Given the description of an element on the screen output the (x, y) to click on. 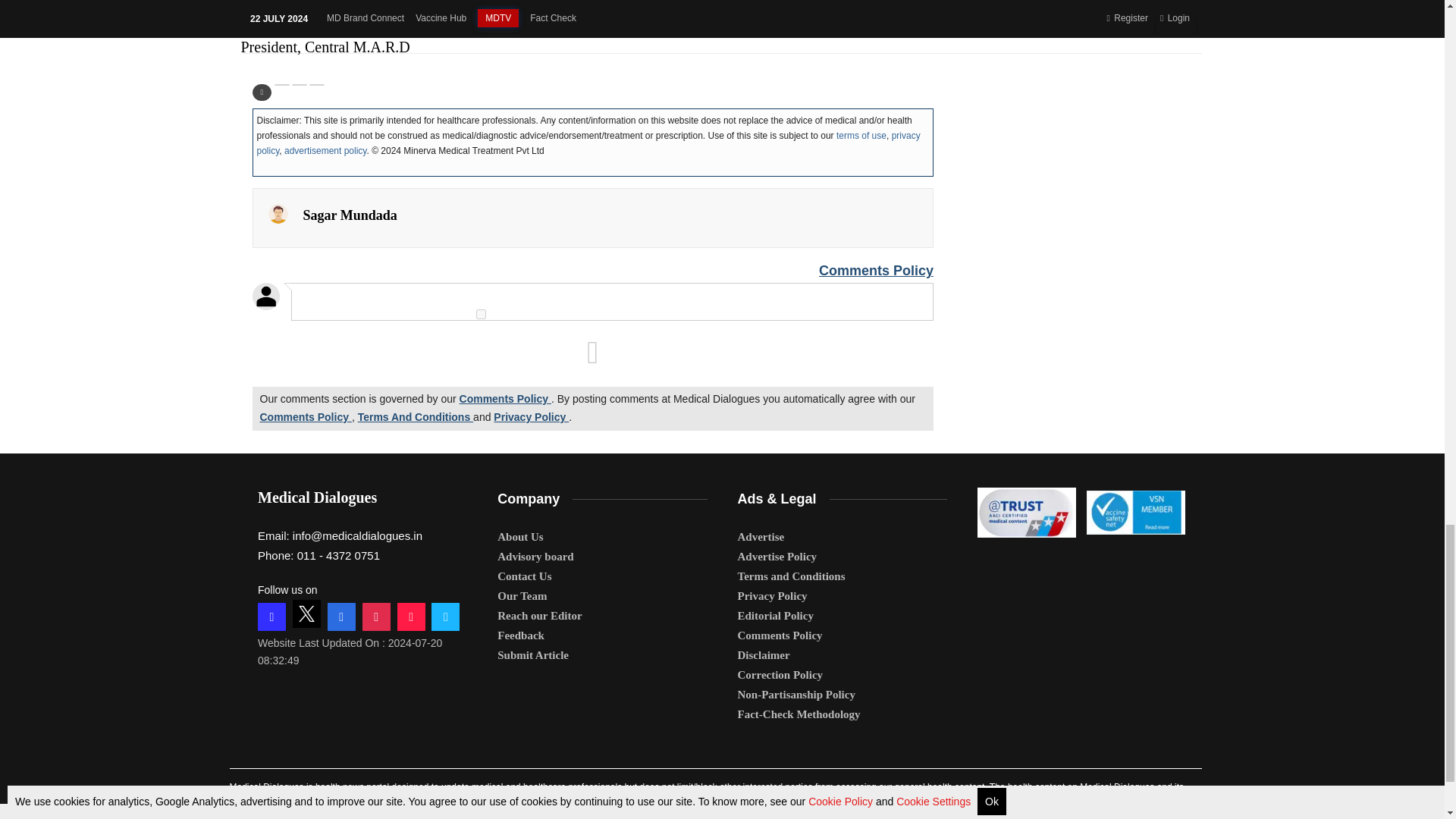
on (481, 314)
sagar mundada (277, 213)
